Given the description of an element on the screen output the (x, y) to click on. 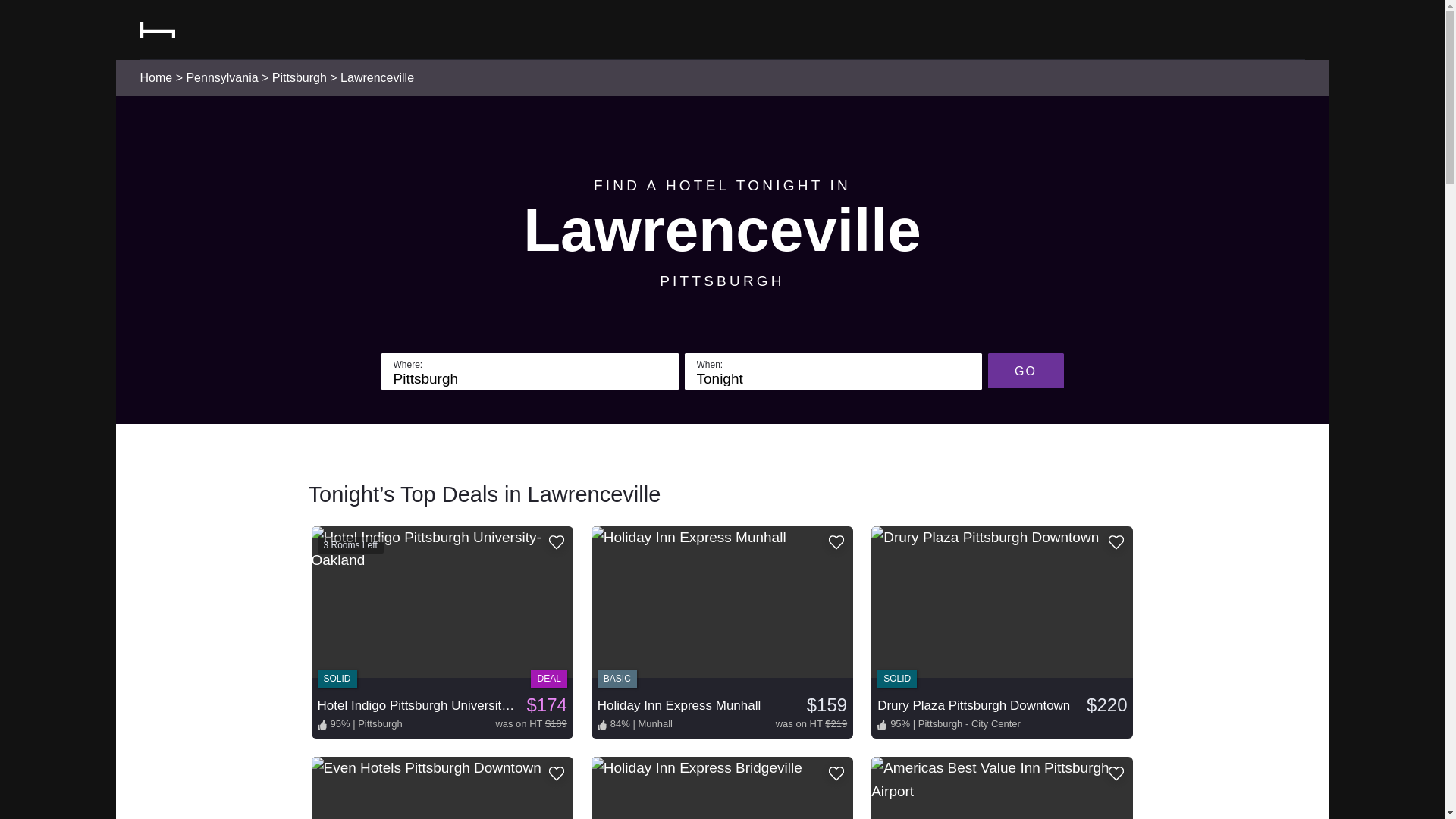
Pittsburgh (529, 379)
Pennsylvania (221, 77)
Pittsburgh (299, 77)
GO (1024, 370)
Home (155, 77)
